Given the description of an element on the screen output the (x, y) to click on. 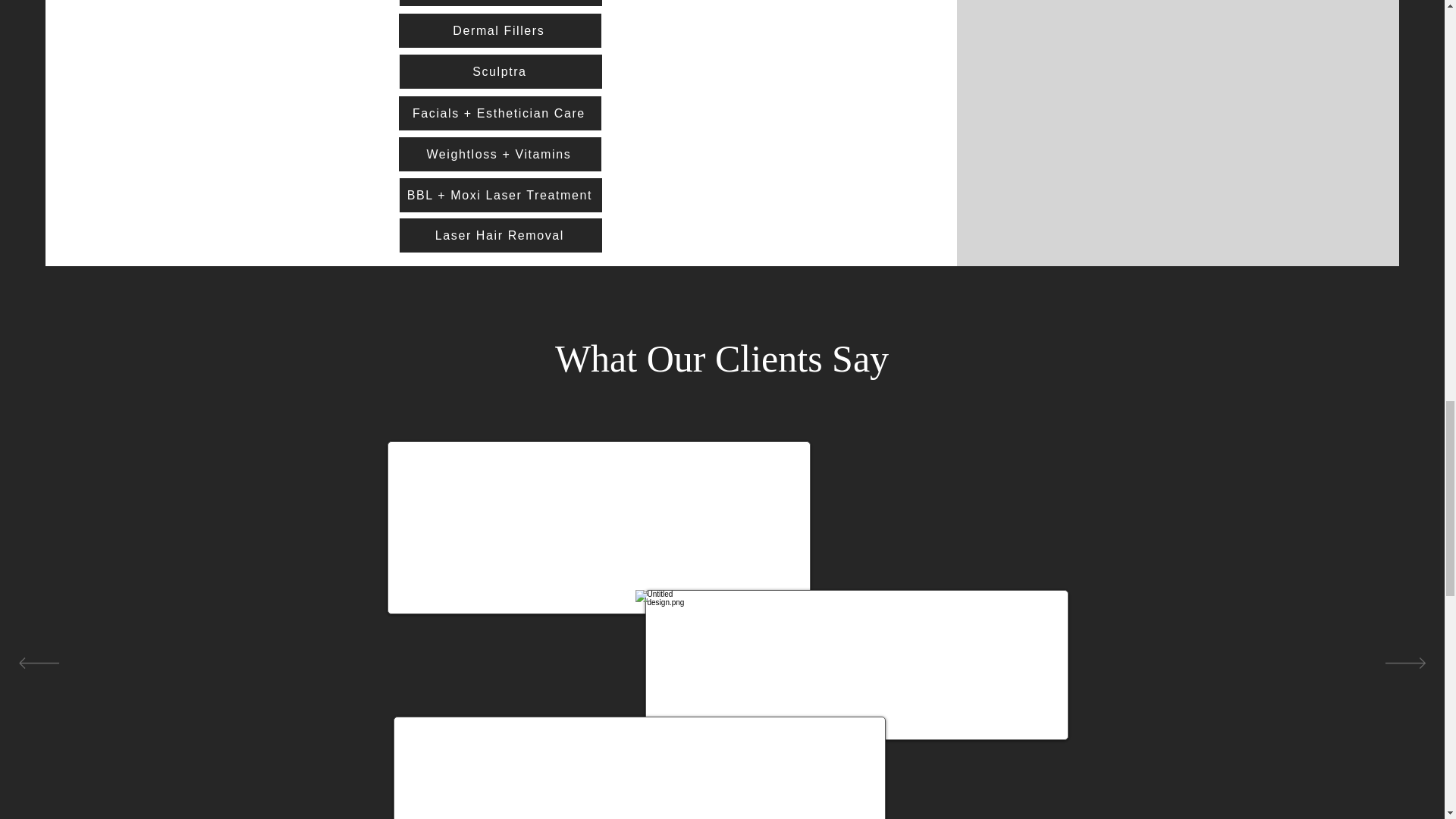
Dermal Fillers (499, 30)
Laser Hair Removal (500, 235)
Microneedling (500, 2)
Sculptra (500, 71)
